Given the description of an element on the screen output the (x, y) to click on. 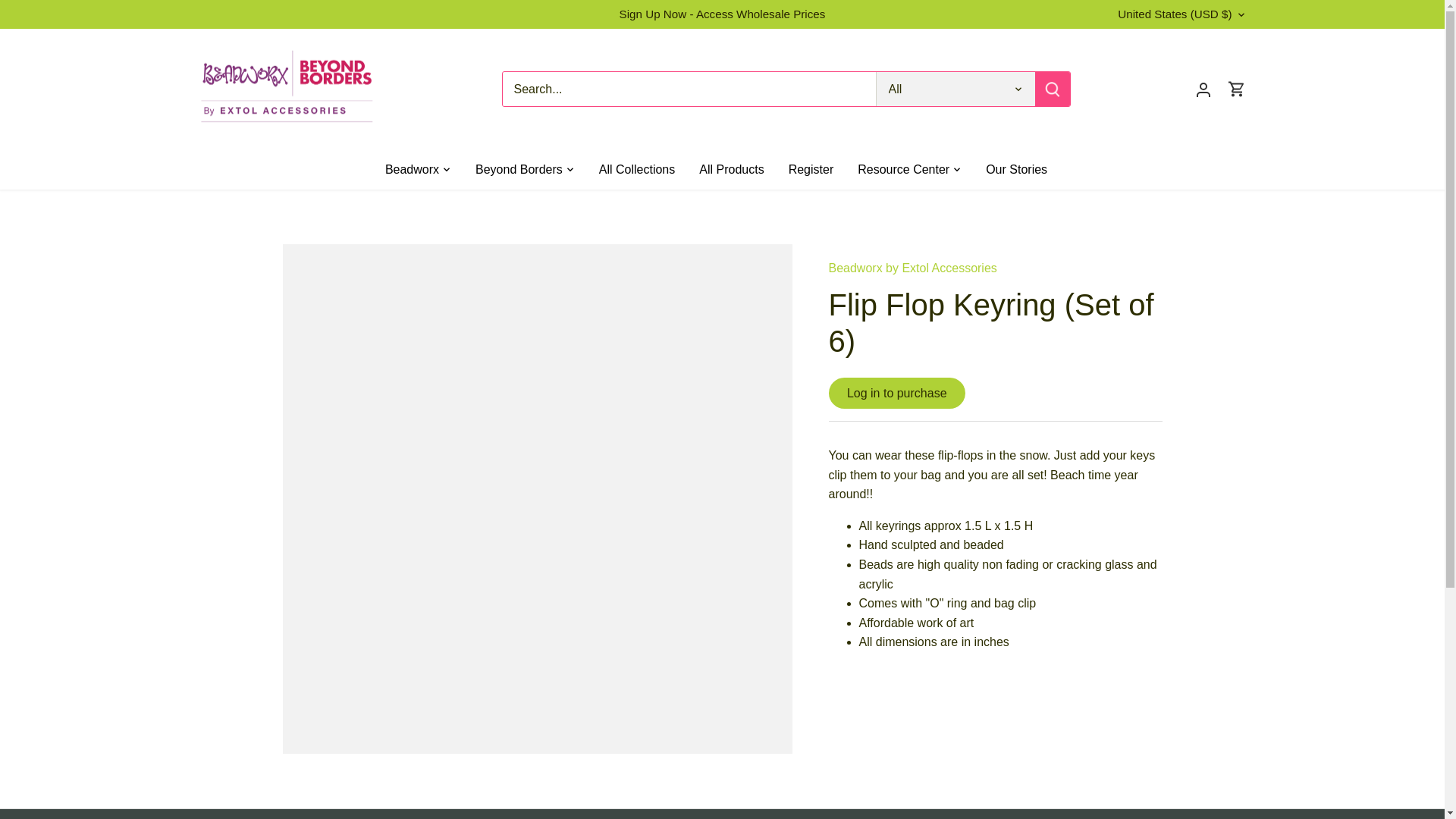
Go to cart (1235, 88)
Sign Up Now - Access Wholesale Prices (722, 13)
